Given the description of an element on the screen output the (x, y) to click on. 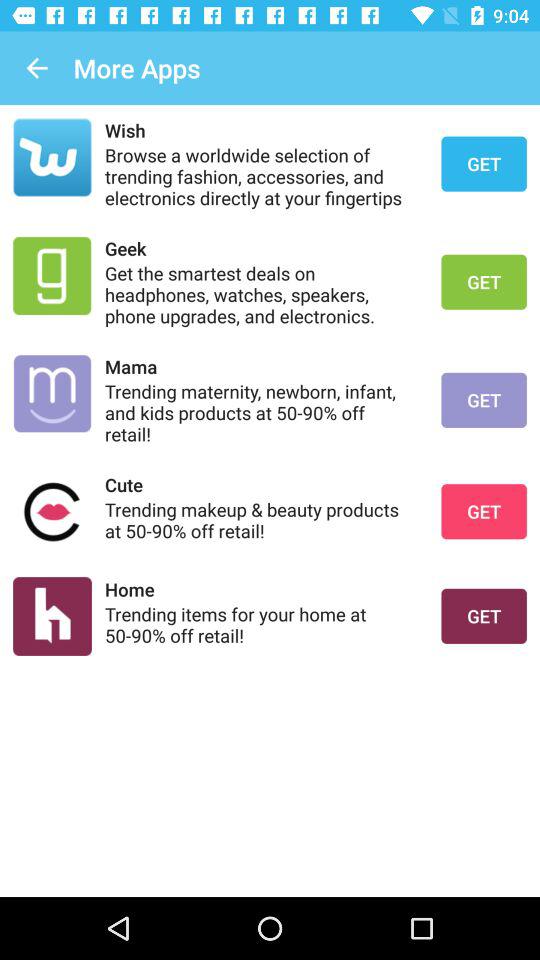
tap the item above trending maternity newborn item (260, 366)
